Given the description of an element on the screen output the (x, y) to click on. 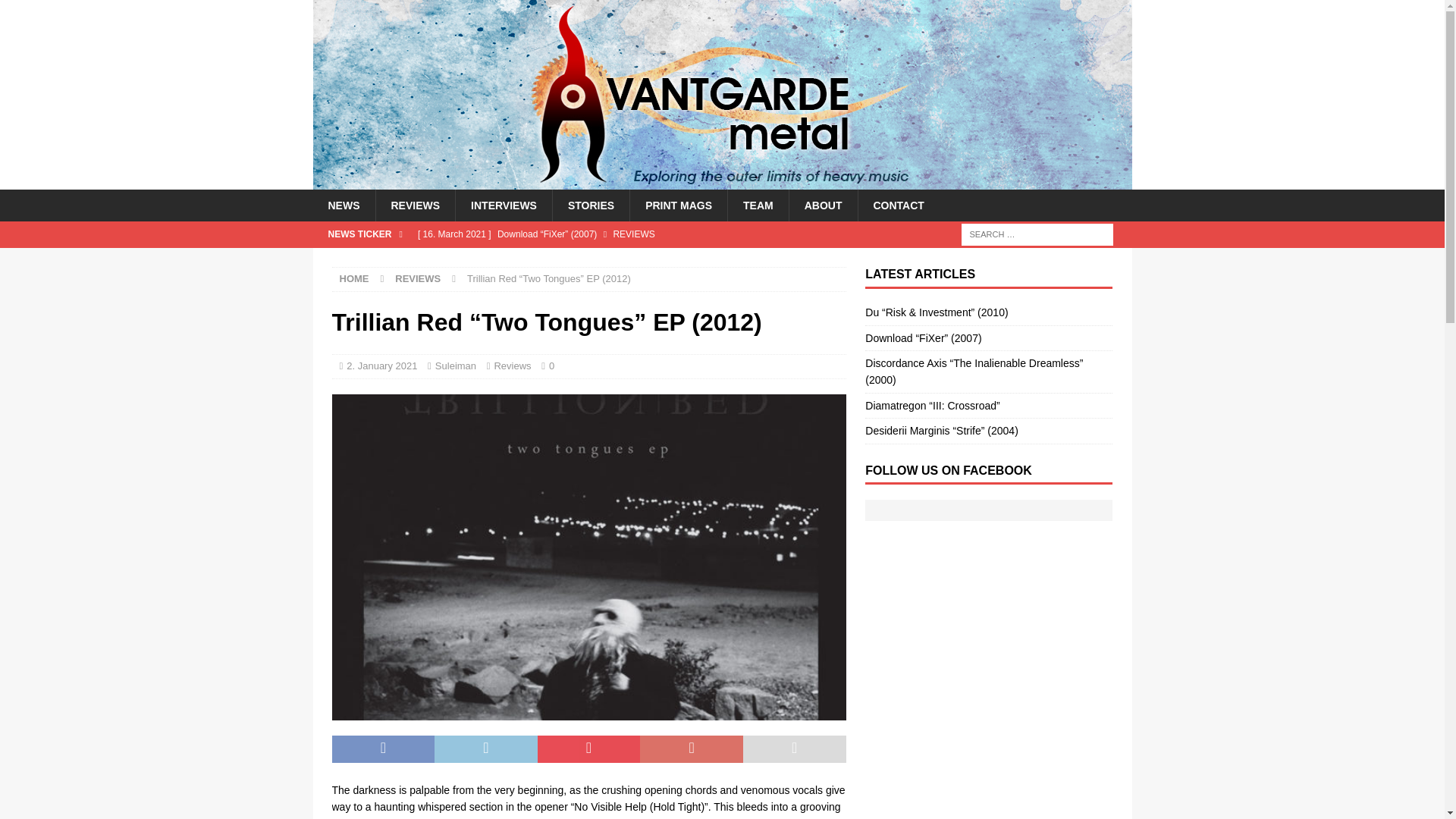
CONTACT (898, 205)
PRINT MAGS (677, 205)
Suleiman (455, 365)
INTERVIEWS (502, 205)
REVIEWS (417, 278)
2. January 2021 (381, 365)
STORIES (589, 205)
ABOUT (823, 205)
Reviews (512, 365)
TEAM (757, 205)
